Given the description of an element on the screen output the (x, y) to click on. 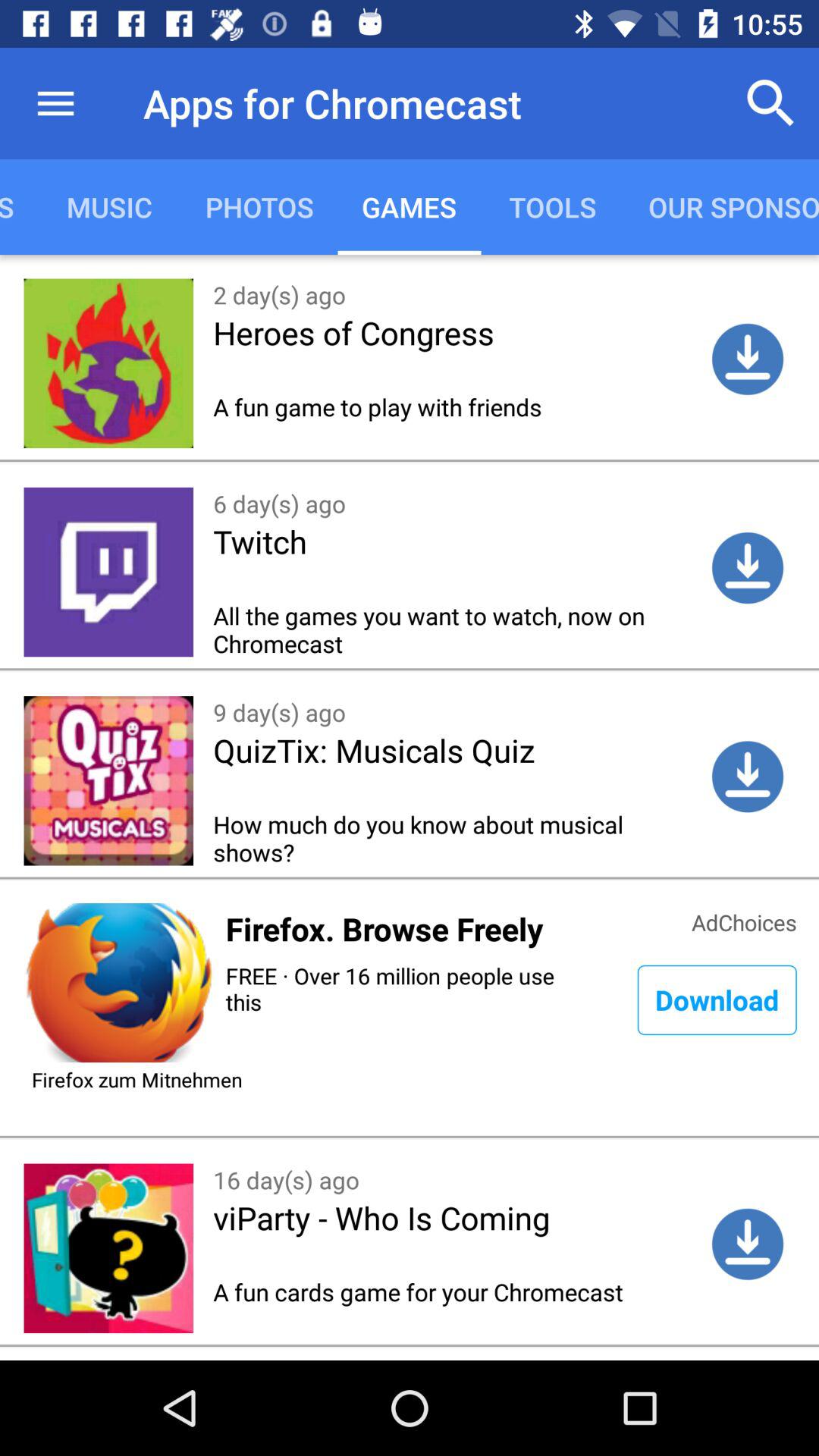
click item next to the apps for chromecast (771, 103)
